Given the description of an element on the screen output the (x, y) to click on. 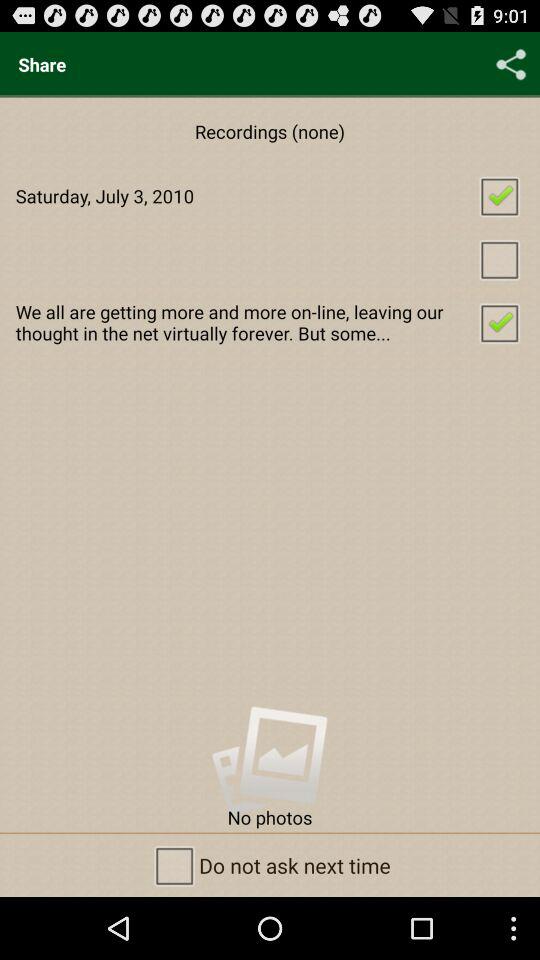
jump until saturday july 3 checkbox (269, 195)
